Given the description of an element on the screen output the (x, y) to click on. 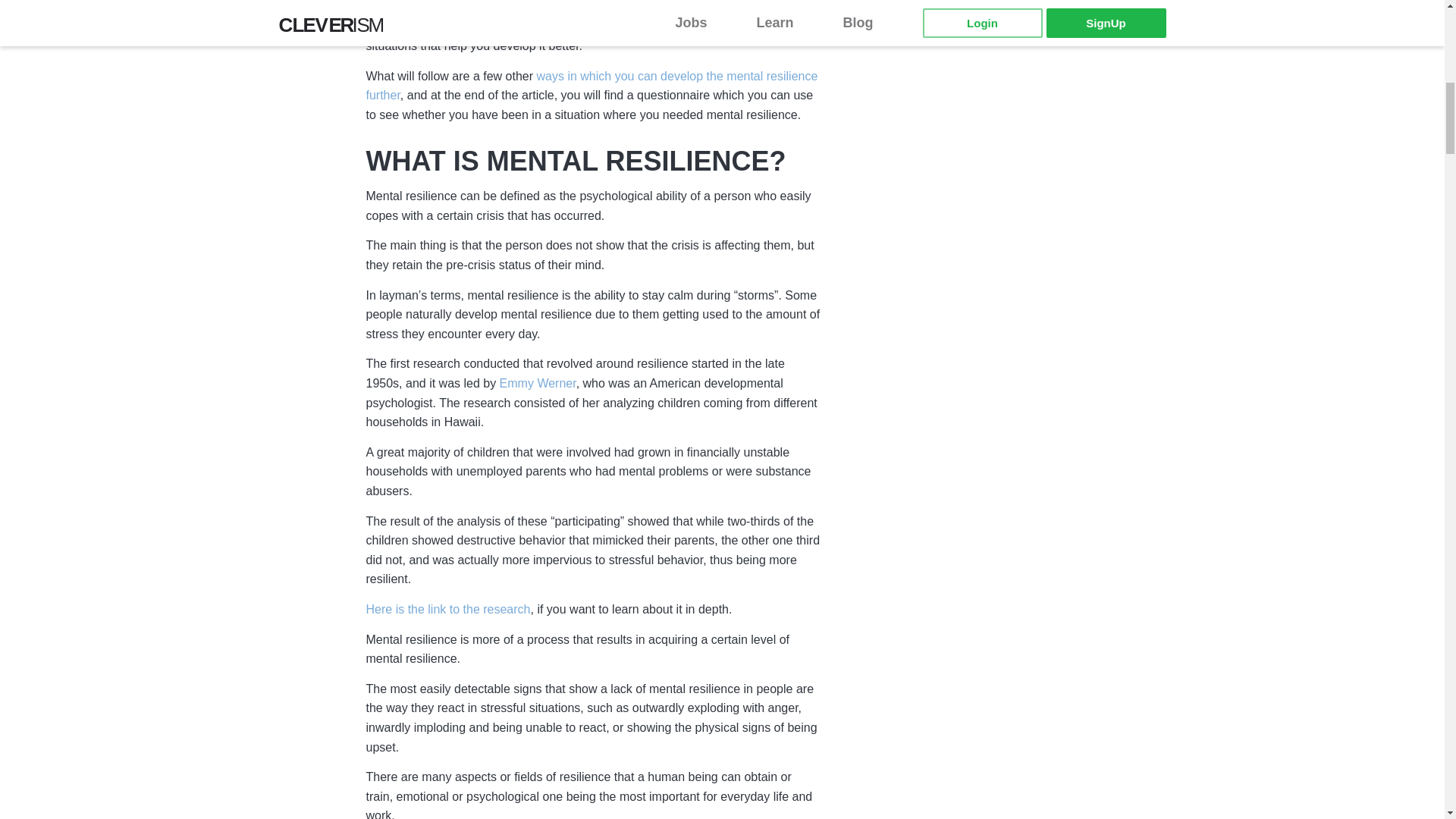
Emmy Werner (537, 384)
ways in which you can develop the mental resilience further (590, 86)
Here is the link to the research (447, 610)
